Given the description of an element on the screen output the (x, y) to click on. 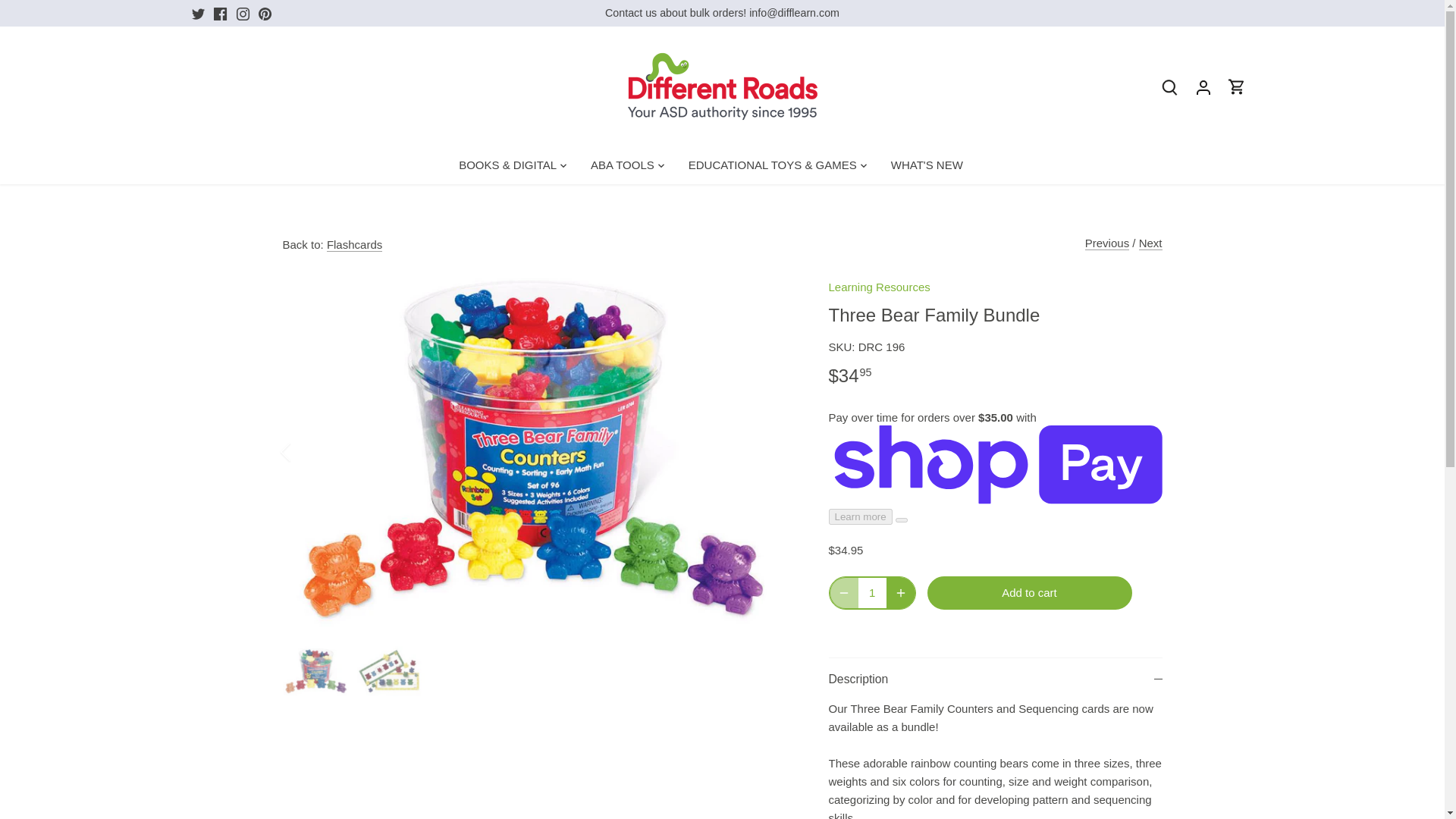
Instagram (241, 13)
1 (872, 593)
ABA TOOLS (622, 165)
Pinterest (265, 13)
Flashcards (353, 244)
Facebook (220, 13)
Twitter (196, 13)
